Given the description of an element on the screen output the (x, y) to click on. 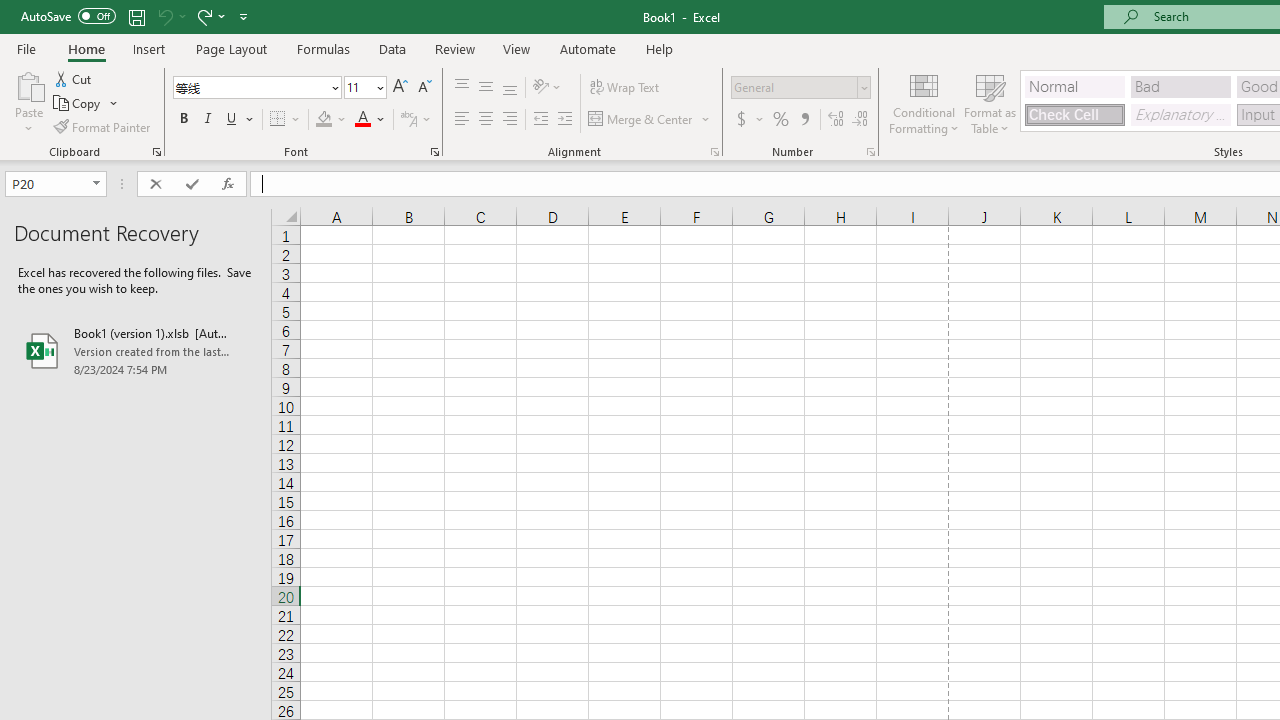
Borders (285, 119)
Format Cell Font (434, 151)
Merge & Center (649, 119)
Font (250, 87)
Bottom Align (509, 87)
Font Color RGB(255, 0, 0) (362, 119)
Bottom Border (278, 119)
Align Right (509, 119)
Format Painter (103, 126)
Formulas (323, 48)
Paste (28, 84)
Bold (183, 119)
Quick Access Toolbar (136, 16)
